Given the description of an element on the screen output the (x, y) to click on. 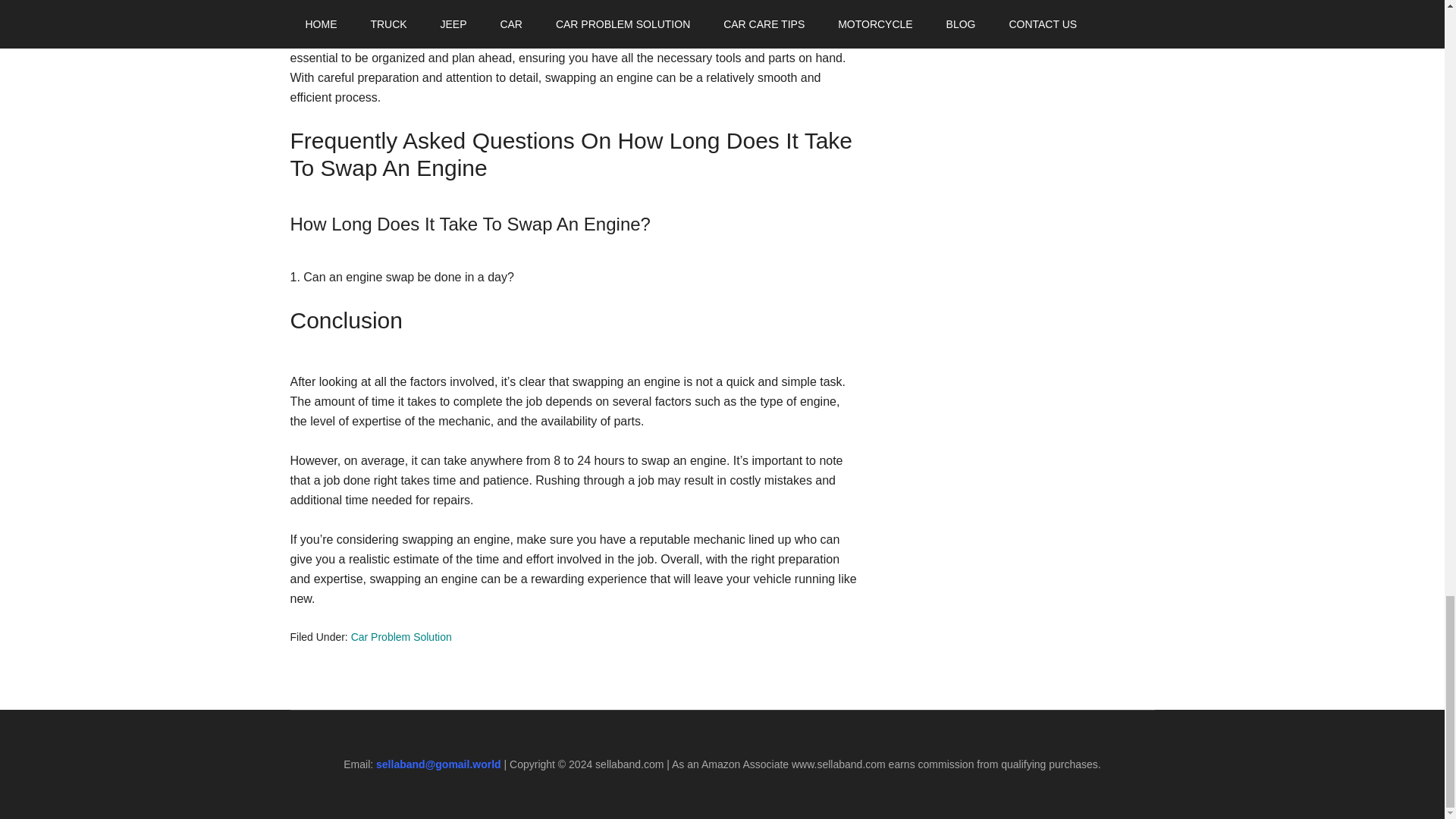
sellaband.com (629, 764)
Car Problem Solution (400, 636)
